Given the description of an element on the screen output the (x, y) to click on. 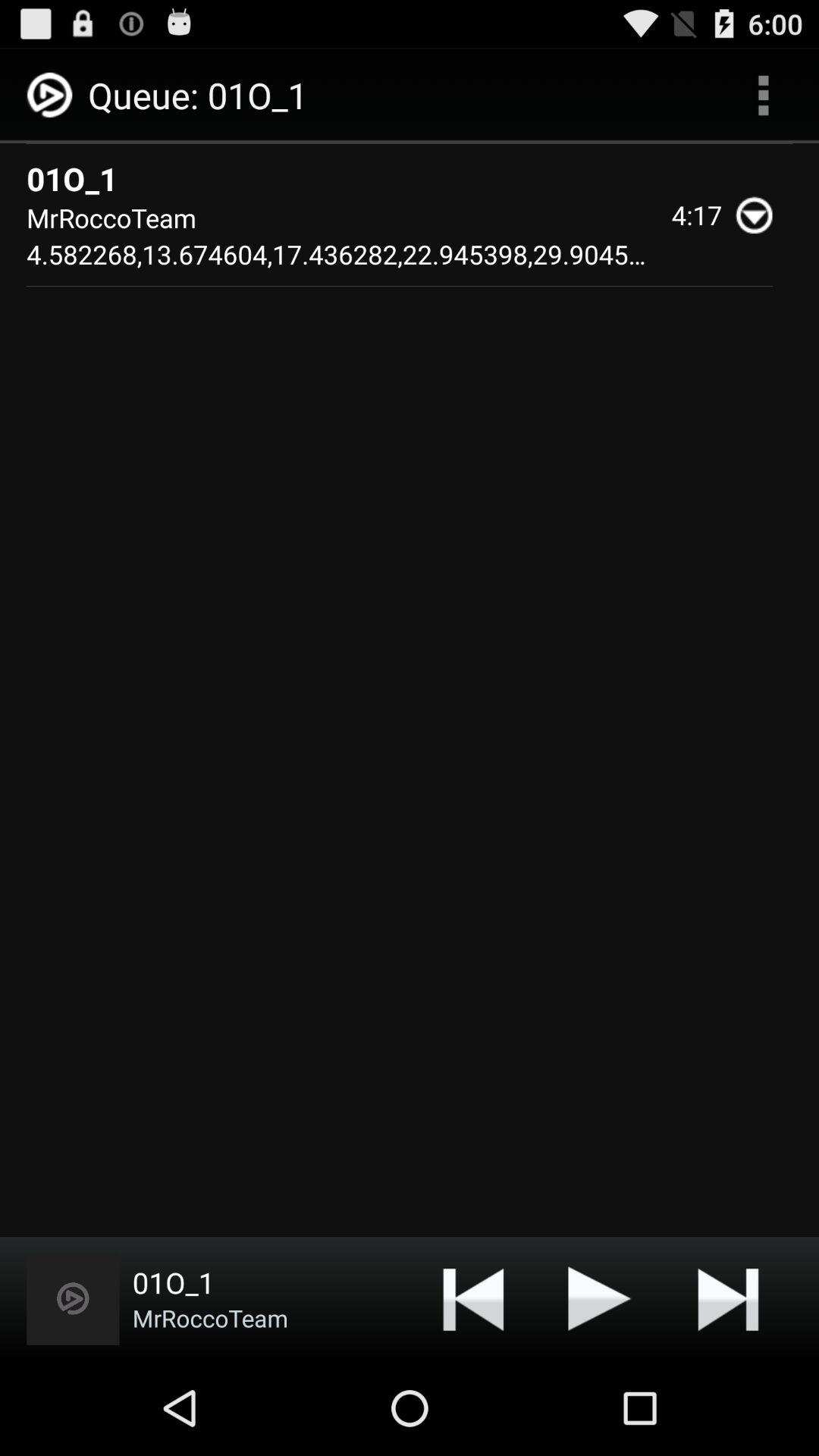
rewind (472, 1298)
